Given the description of an element on the screen output the (x, y) to click on. 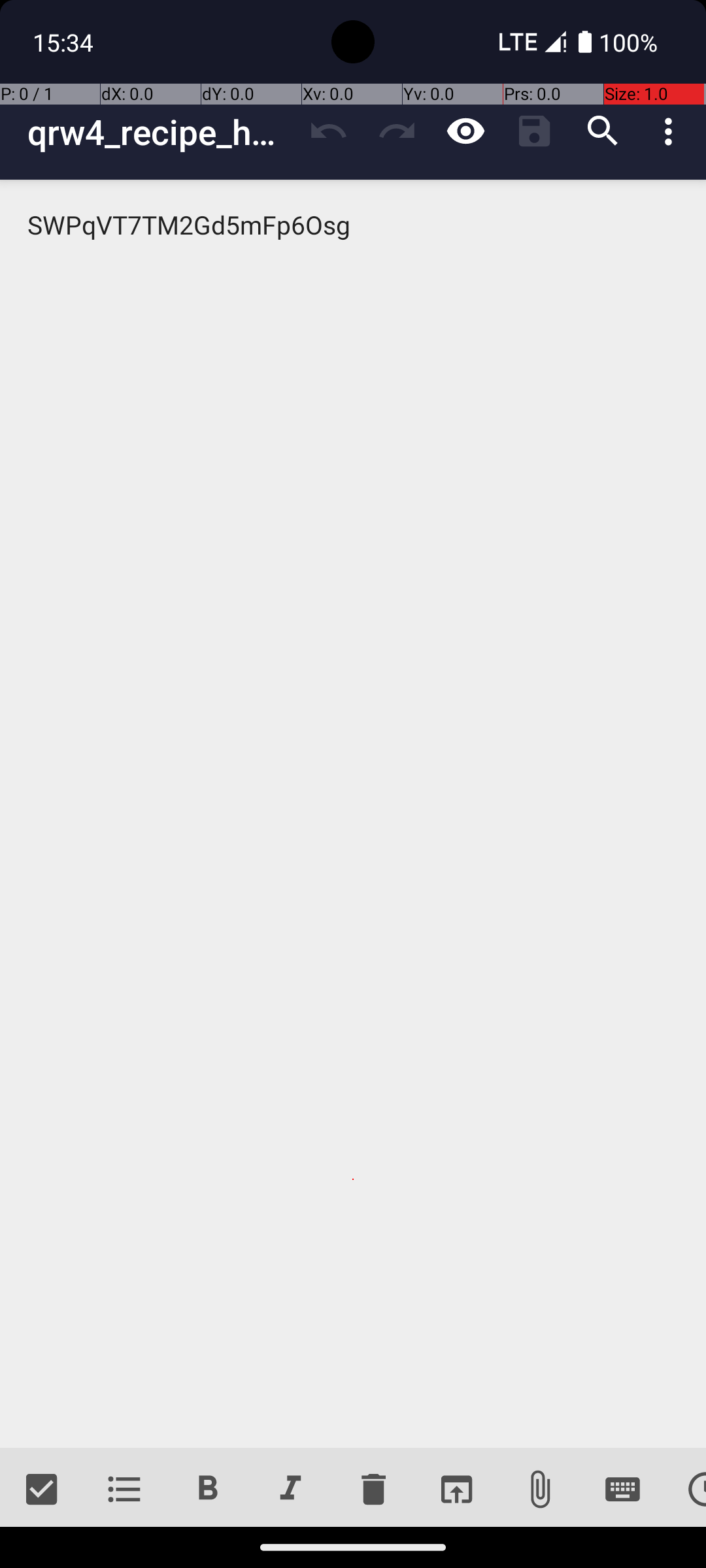
qrw4_recipe_homemade_pizza Element type: android.widget.TextView (160, 131)
SWPqVT7TM2Gd5mFp6Osg
 Element type: android.widget.EditText (353, 813)
